Given the description of an element on the screen output the (x, y) to click on. 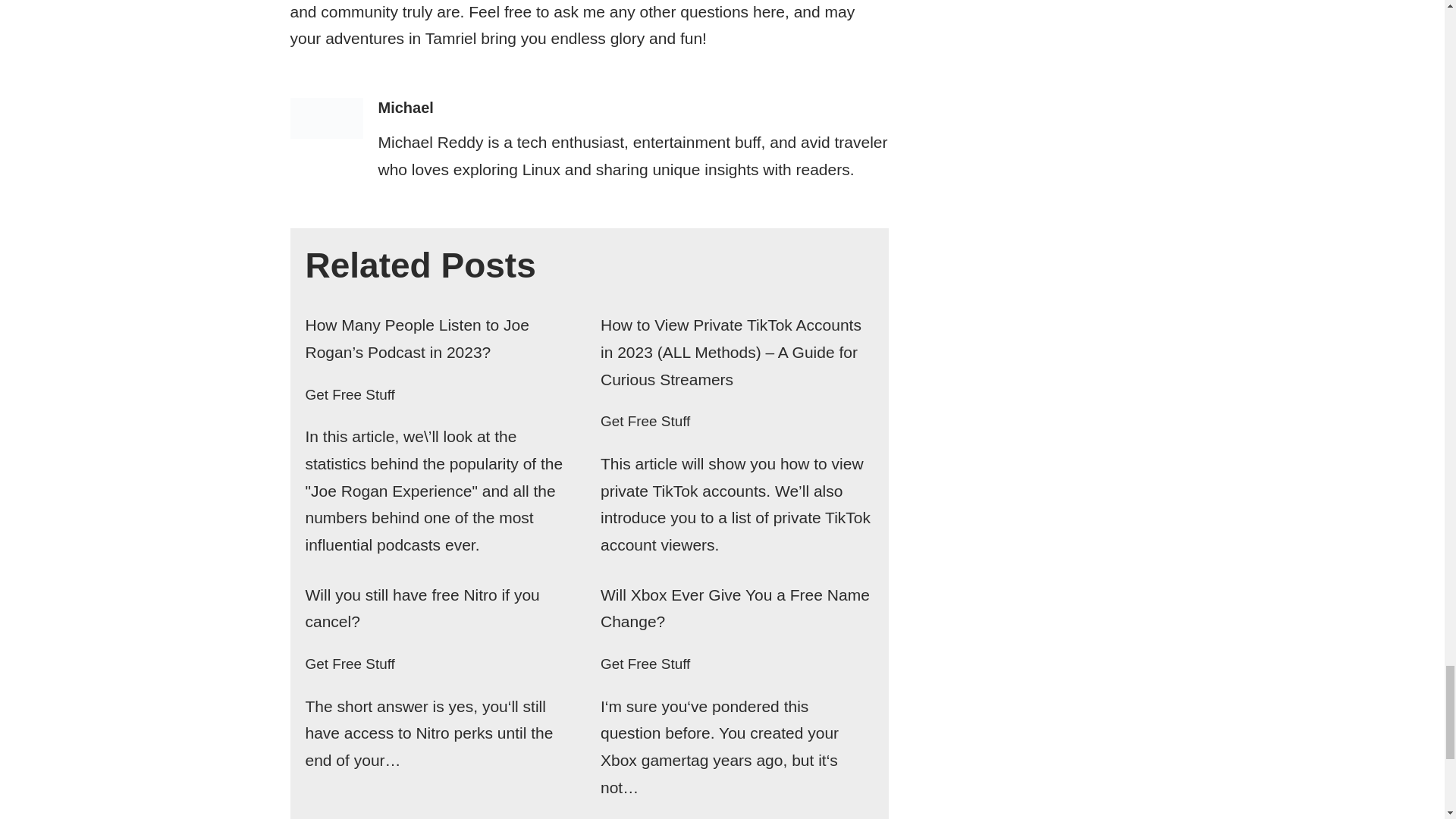
Will you still have free Nitro if you cancel? (421, 608)
Will Xbox Ever Give You a Free Name Change? (734, 608)
Get Free Stuff (349, 663)
Get Free Stuff (644, 663)
Get Free Stuff (349, 394)
Get Free Stuff (644, 421)
